Given the description of an element on the screen output the (x, y) to click on. 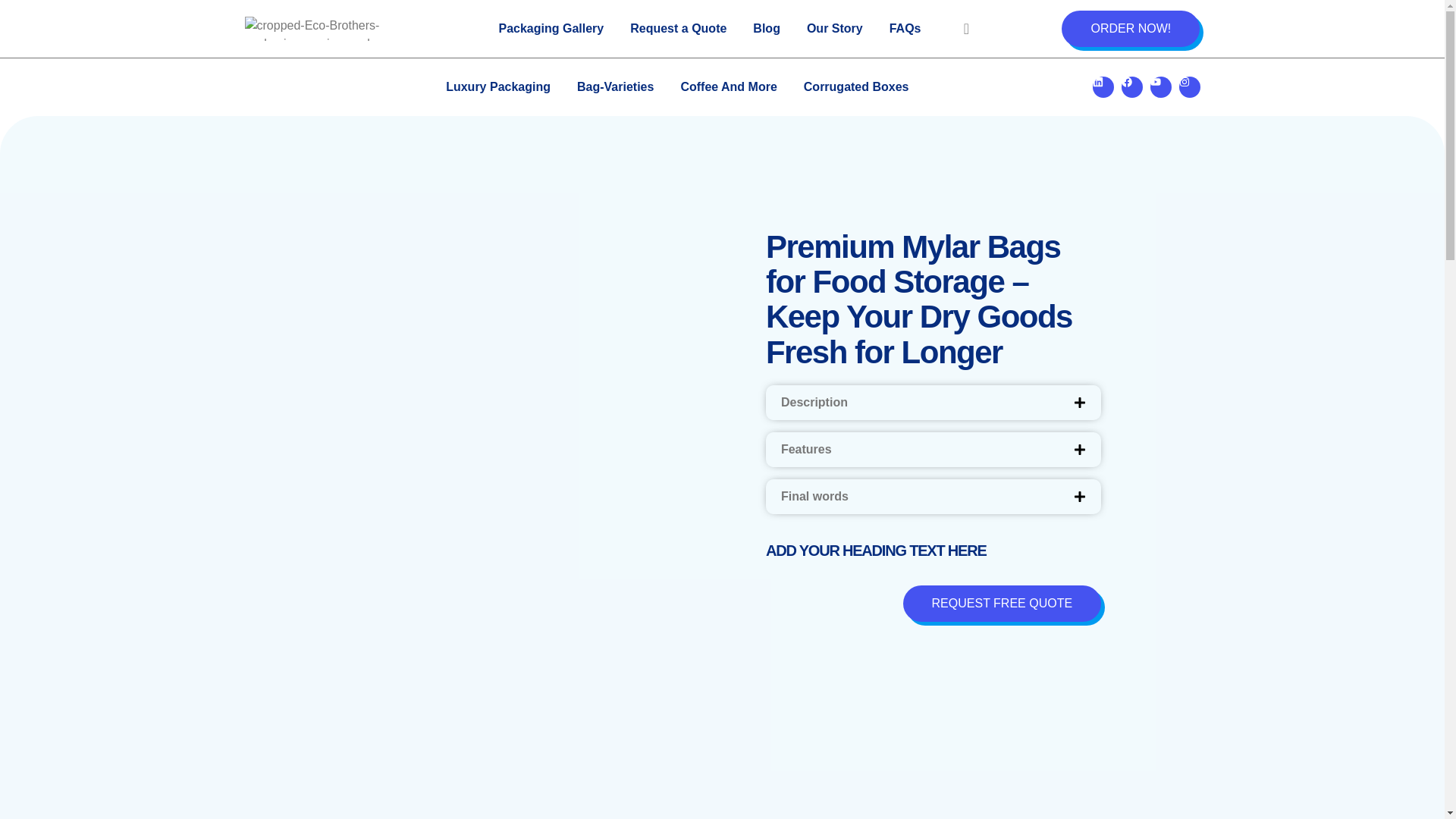
Request a Quote (678, 28)
ORDER NOW! (1130, 28)
Our Story (834, 28)
cropped-Eco-Brothers-packaging-services.webp (330, 28)
Packaging Gallery (550, 28)
